Given the description of an element on the screen output the (x, y) to click on. 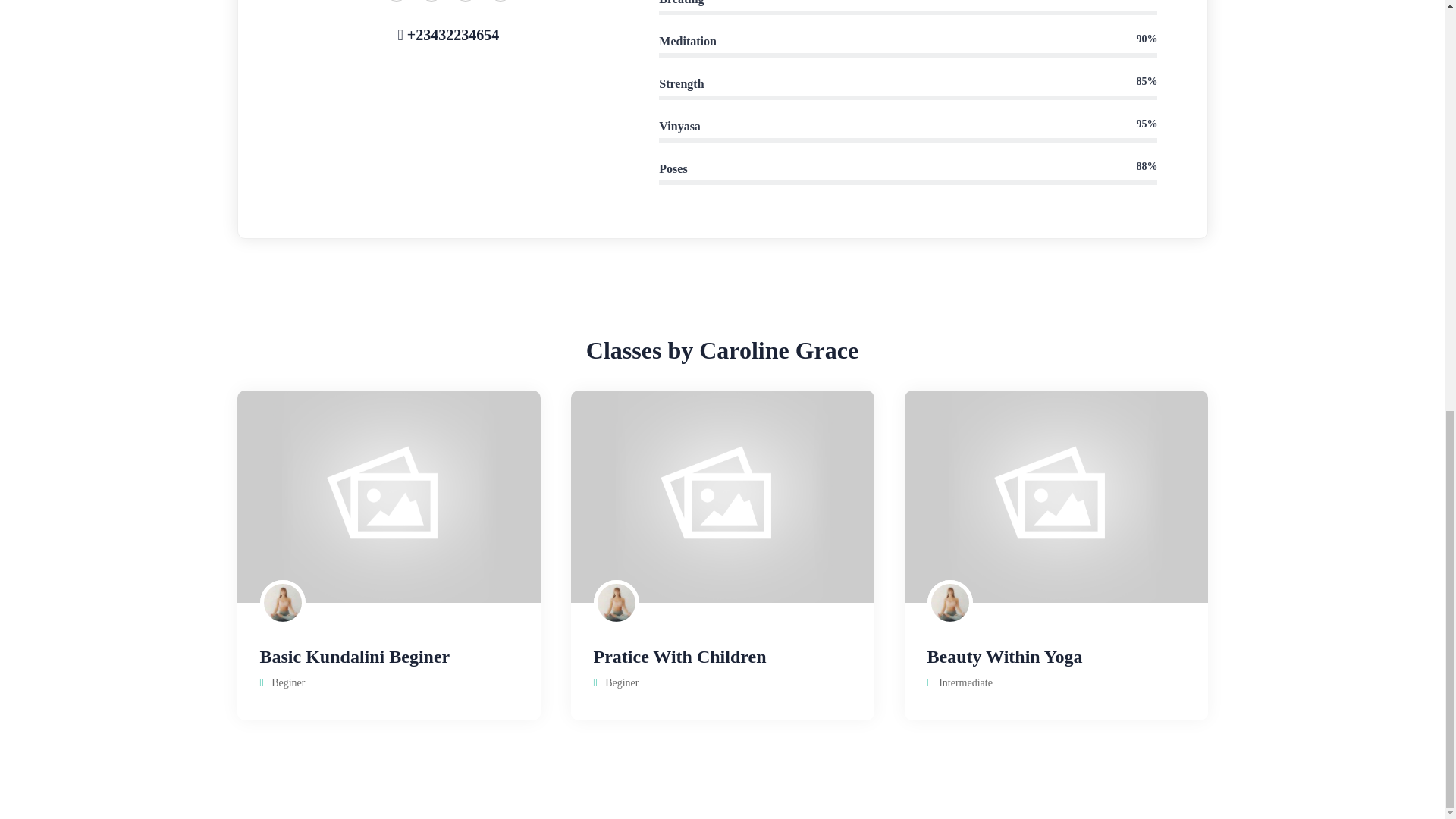
Permanent link to: "Pratice With Children" (678, 656)
Basic Kundalini Beginer (354, 656)
Beginer (622, 682)
Beginer (287, 682)
Intermediate (965, 682)
Permanent link to: "Beauty Within Yoga" (1003, 656)
Pratice With Children (678, 656)
Beauty Within Yoga (1003, 656)
Permanent link to: "Basic Kundalini Beginer" (354, 656)
